Given the description of an element on the screen output the (x, y) to click on. 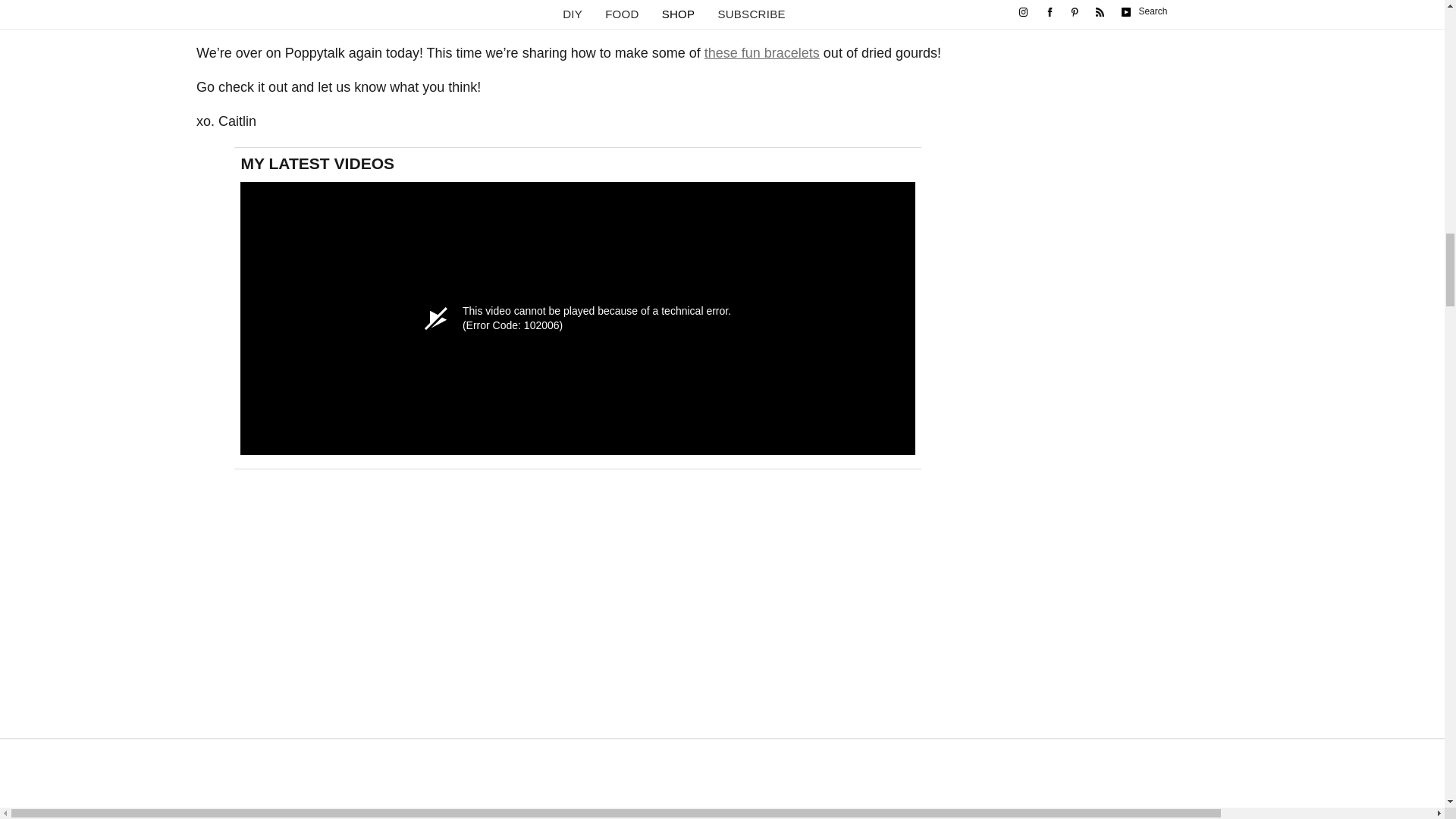
these fun bracelets (761, 52)
